Given the description of an element on the screen output the (x, y) to click on. 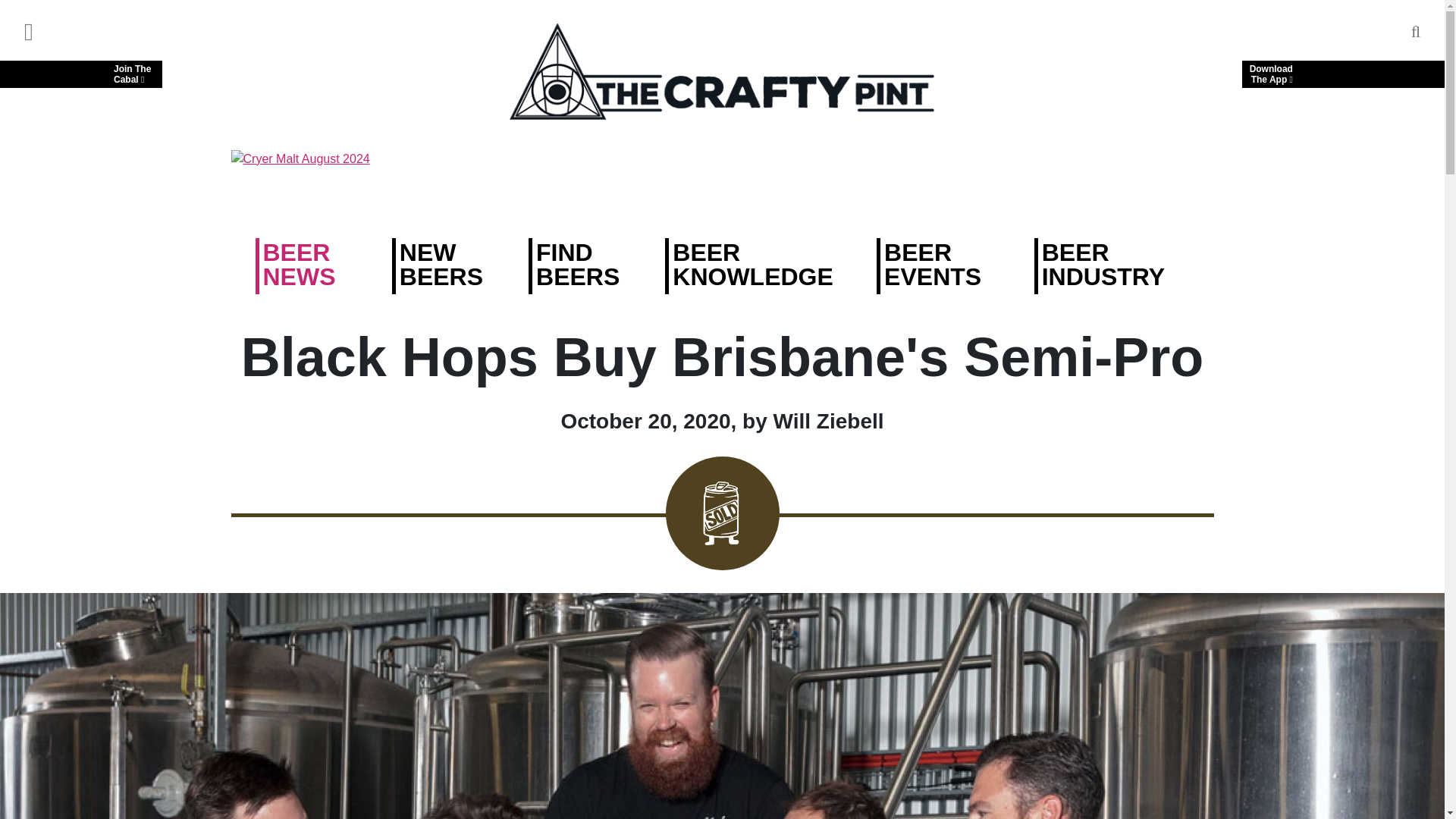
Cryer Malt August 2024 (721, 182)
